Given the description of an element on the screen output the (x, y) to click on. 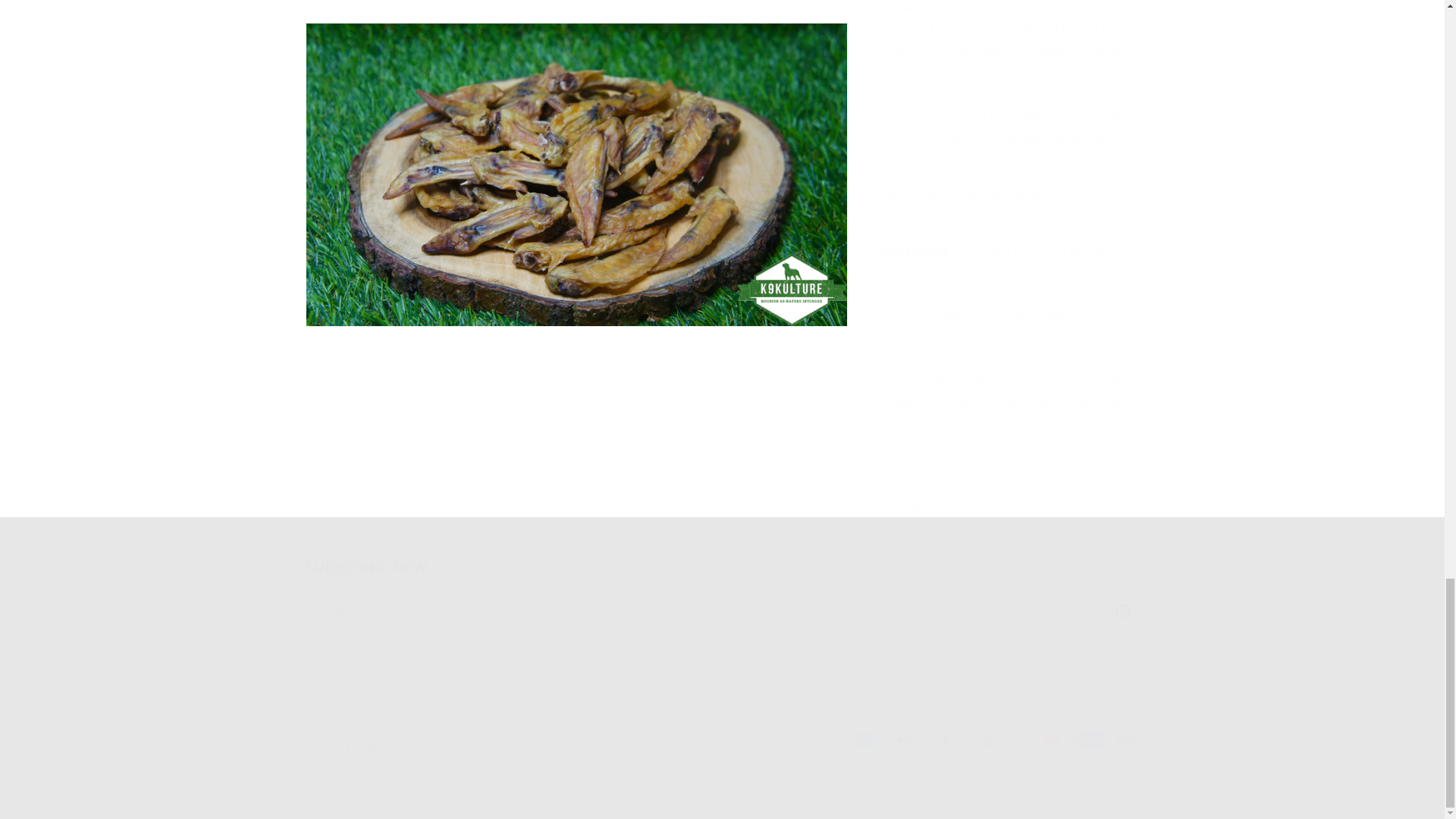
Instagram (721, 593)
